Given the description of an element on the screen output the (x, y) to click on. 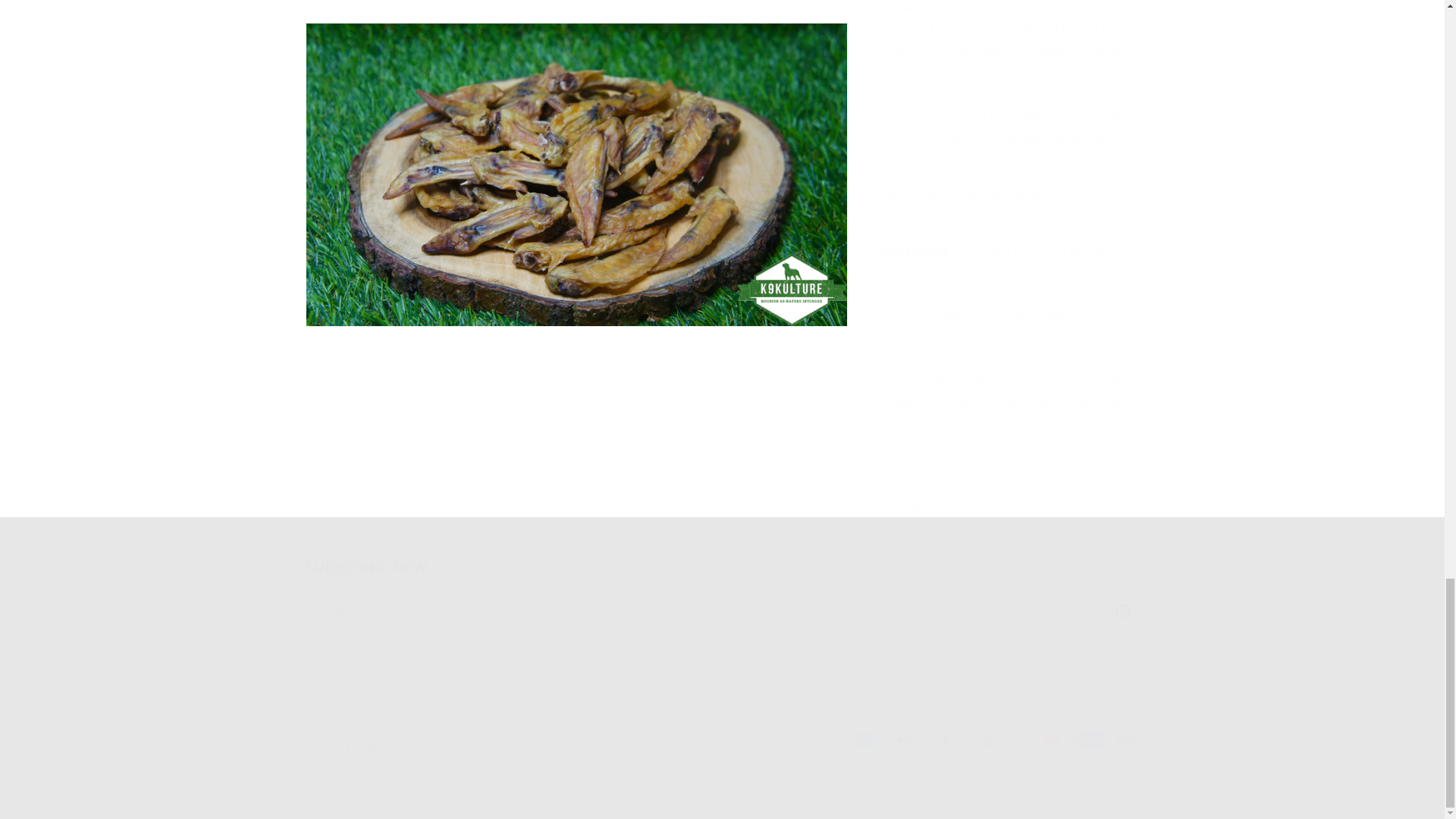
Instagram (721, 593)
